Given the description of an element on the screen output the (x, y) to click on. 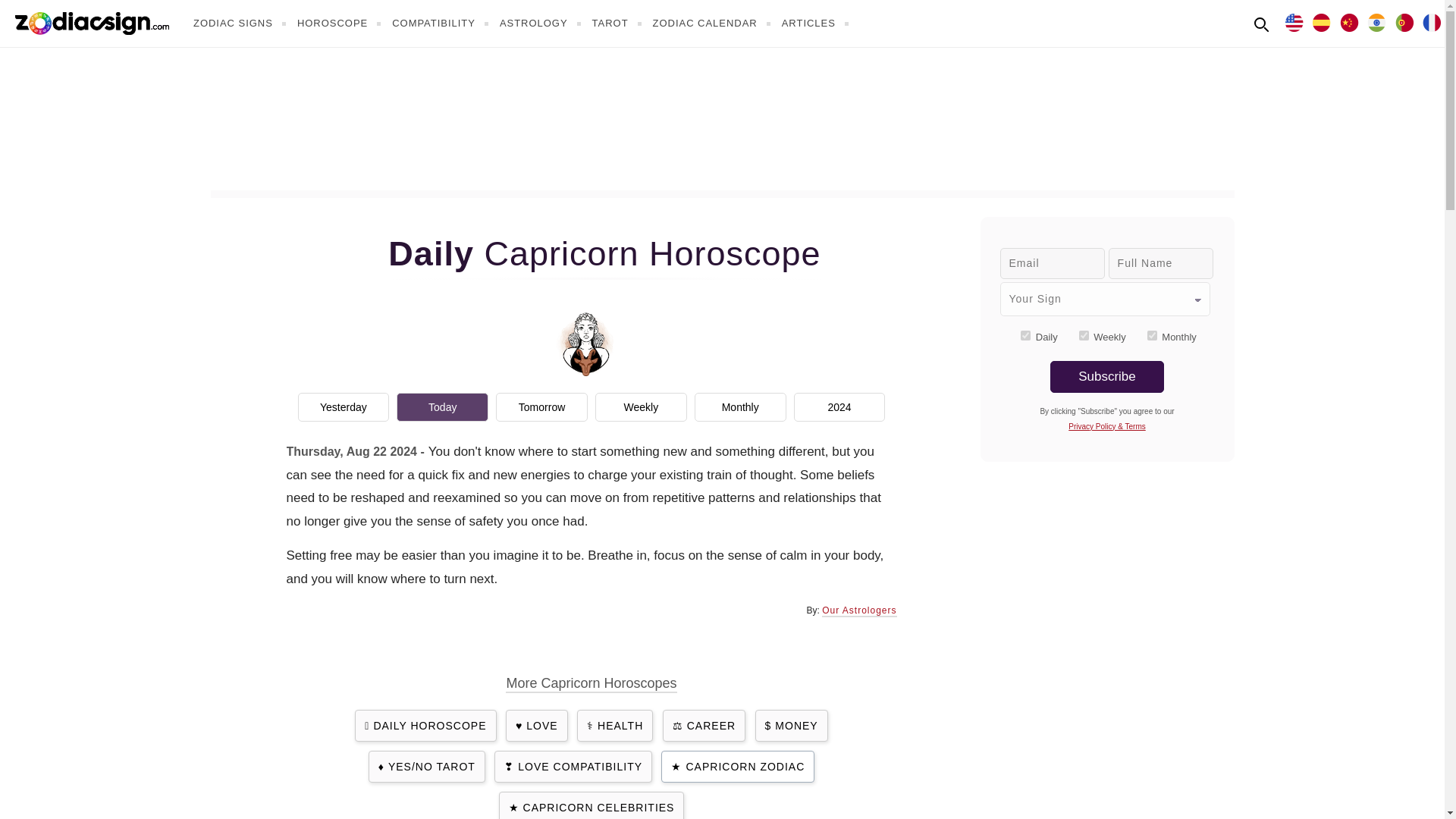
In English (1294, 21)
daily (1025, 335)
weekly (1083, 335)
monthly (1152, 335)
ZODIAC SIGNS (241, 23)
HOROSCOPE (341, 23)
